Given the description of an element on the screen output the (x, y) to click on. 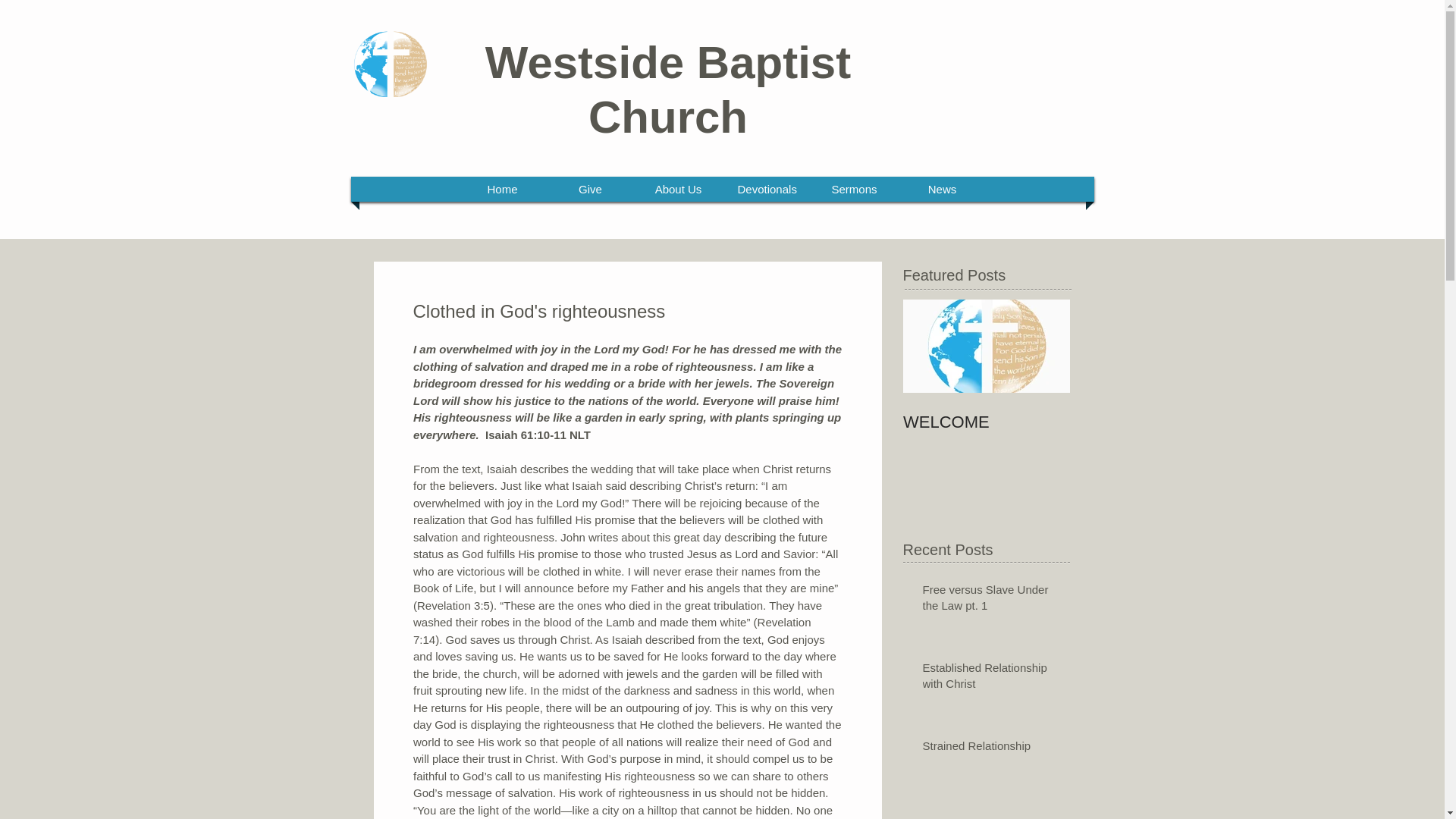
Devotionals (766, 188)
Sermons (854, 188)
About Us (679, 188)
Strained Relationship (990, 748)
Warning of Being Enslaved by Legalism (990, 817)
Home (503, 188)
Give (590, 188)
News (942, 188)
WELCOME (985, 422)
Established Relationship with Christ (990, 678)
